Given the description of an element on the screen output the (x, y) to click on. 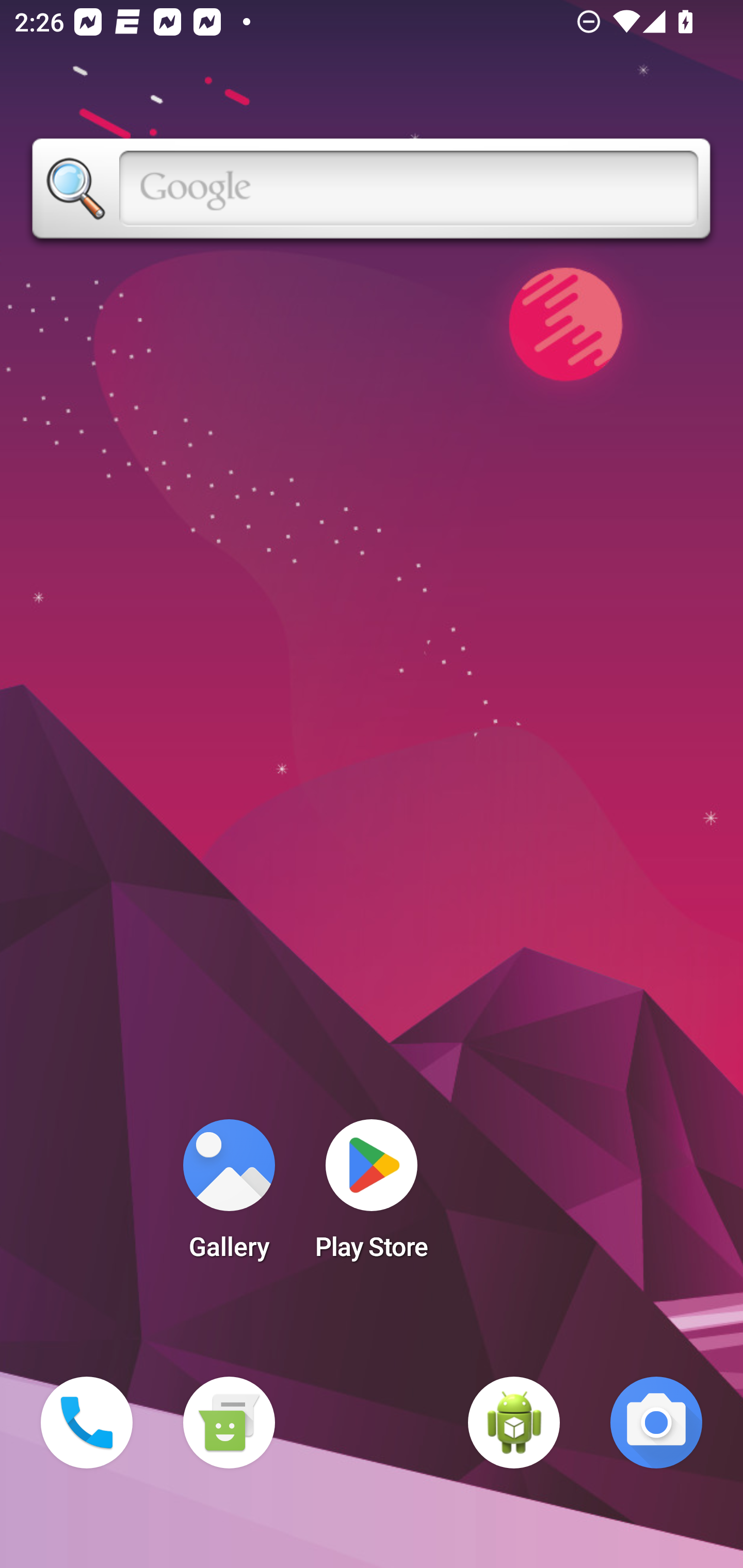
Gallery (228, 1195)
Play Store (371, 1195)
Phone (86, 1422)
Messaging (228, 1422)
WebView Browser Tester (513, 1422)
Camera (656, 1422)
